Given the description of an element on the screen output the (x, y) to click on. 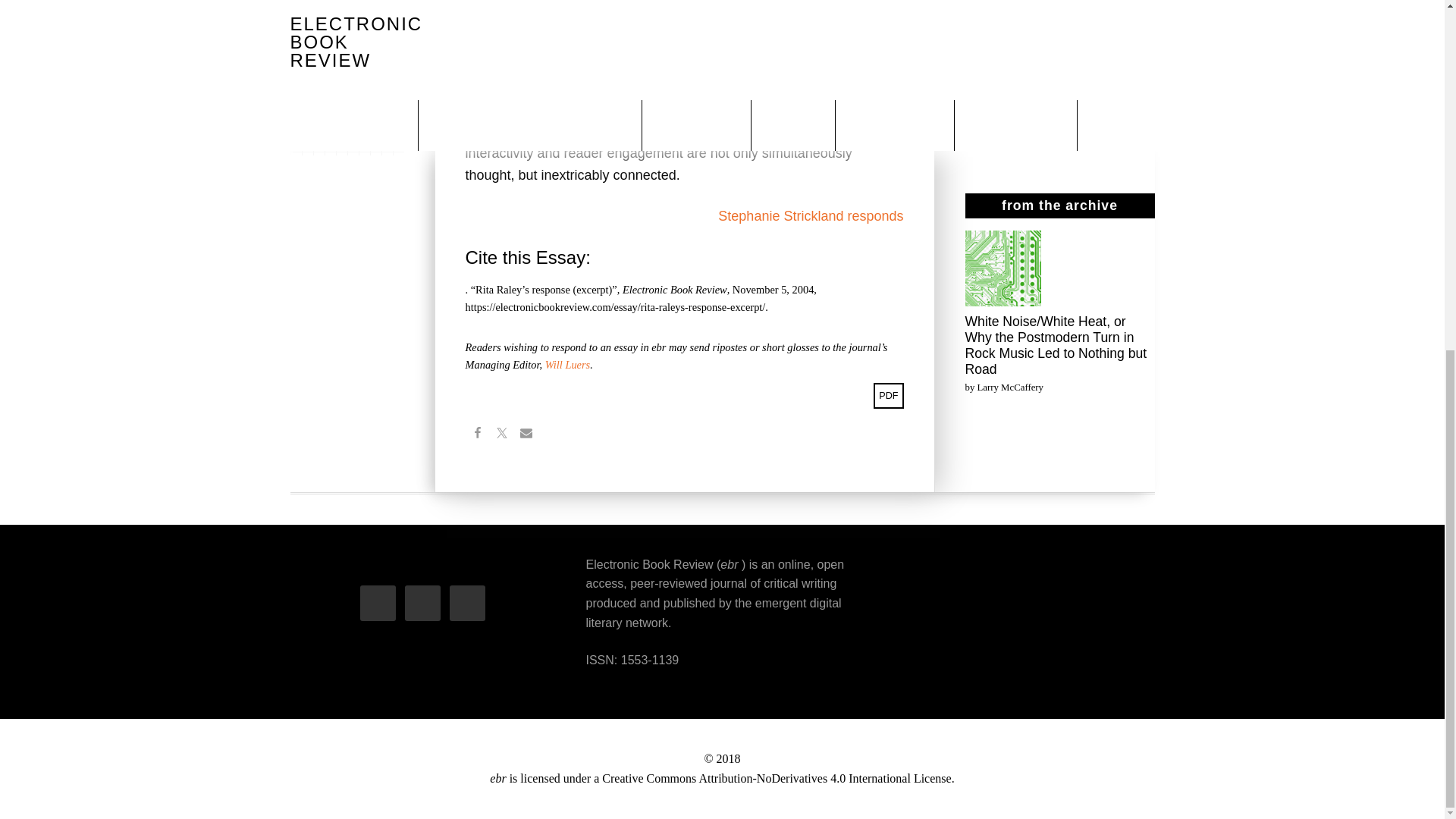
Stephanie Strickland responds (809, 215)
Share on Twitter (501, 434)
Mark Bernstein and Diane Greco respond in turn (1040, 7)
Share via Email (525, 434)
Moulthrop responds in turn (1042, 128)
Share on Facebook (477, 434)
Will Luers (567, 364)
PDF (888, 395)
